Given the description of an element on the screen output the (x, y) to click on. 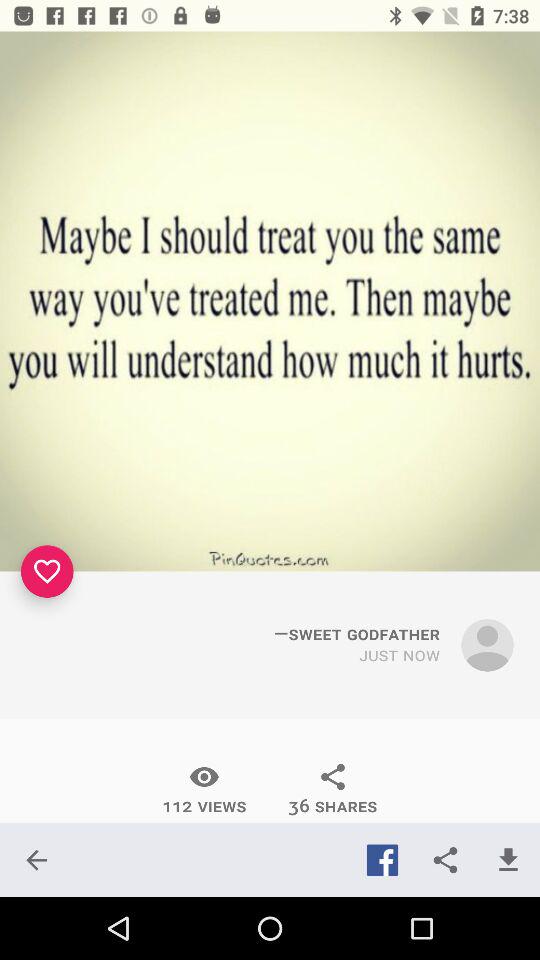
open the just now item (399, 655)
